Given the description of an element on the screen output the (x, y) to click on. 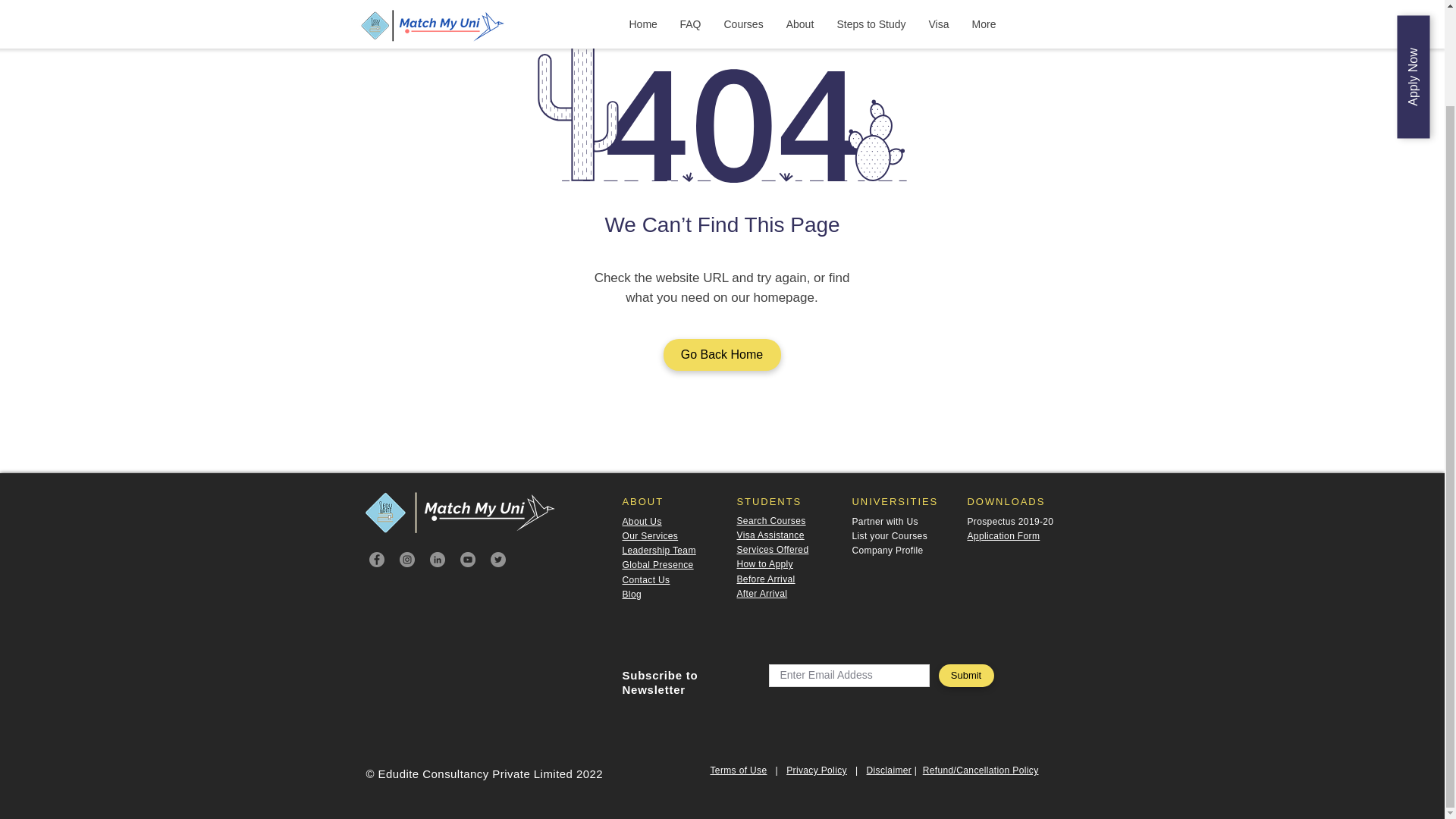
Blog (630, 593)
Contact Us (645, 579)
Our Services (649, 535)
Go Back Home (721, 355)
Global Presence (657, 564)
Leadership Team (658, 550)
How to Apply (764, 563)
Search Courses (771, 520)
Visa Assistance (770, 534)
About Us (641, 521)
Services Offered (772, 549)
Before Arrival (765, 579)
